Given the description of an element on the screen output the (x, y) to click on. 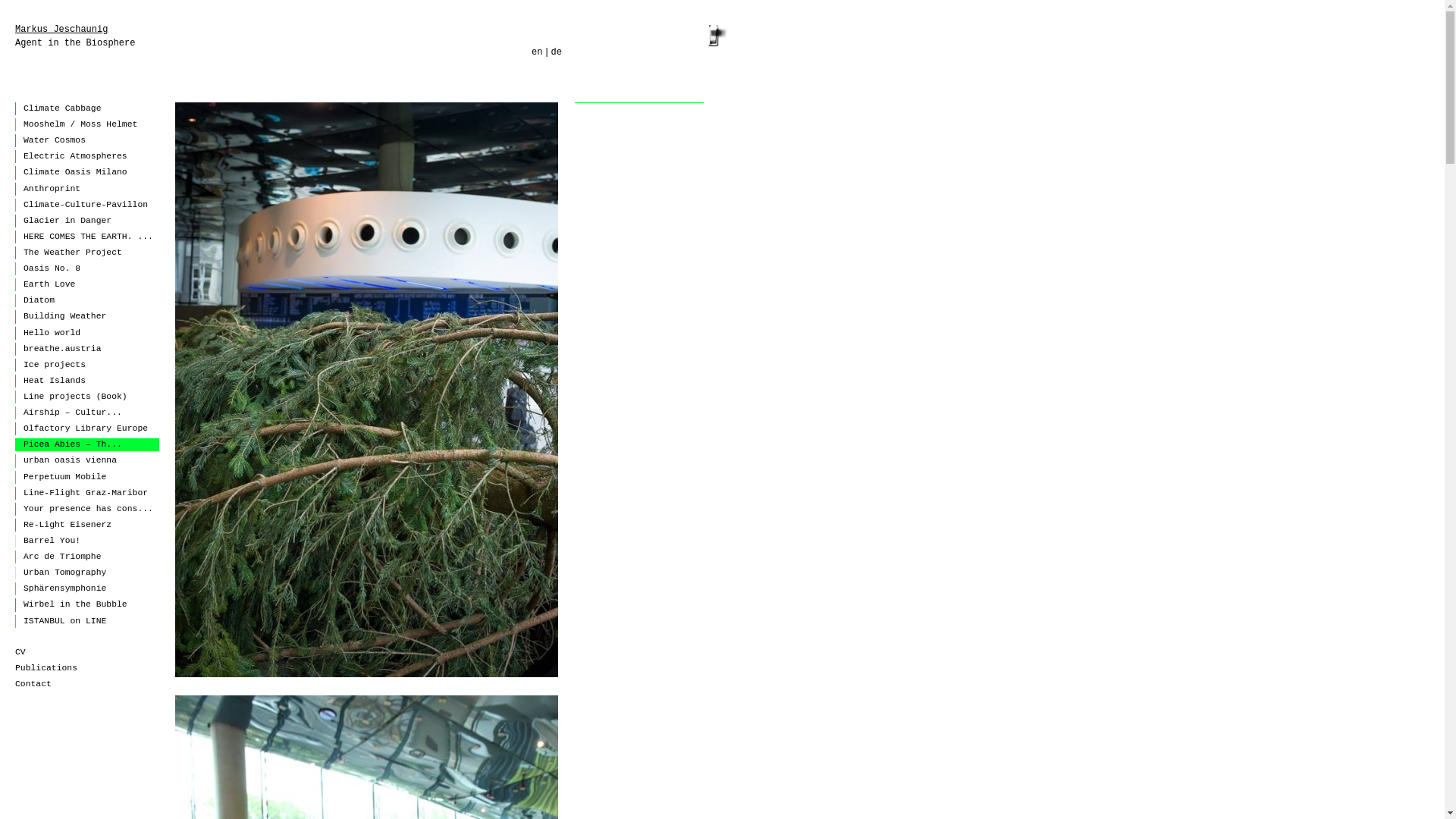
Oasis No. 8 (87, 268)
Electric Atmospheres (87, 155)
Anthroprint (87, 188)
The Weather Project (87, 252)
en (536, 51)
breathe.austria (87, 349)
Olfactory Library Europe (87, 428)
Earth Love (87, 284)
urban oasis vienna (87, 460)
de (556, 51)
